Given the description of an element on the screen output the (x, y) to click on. 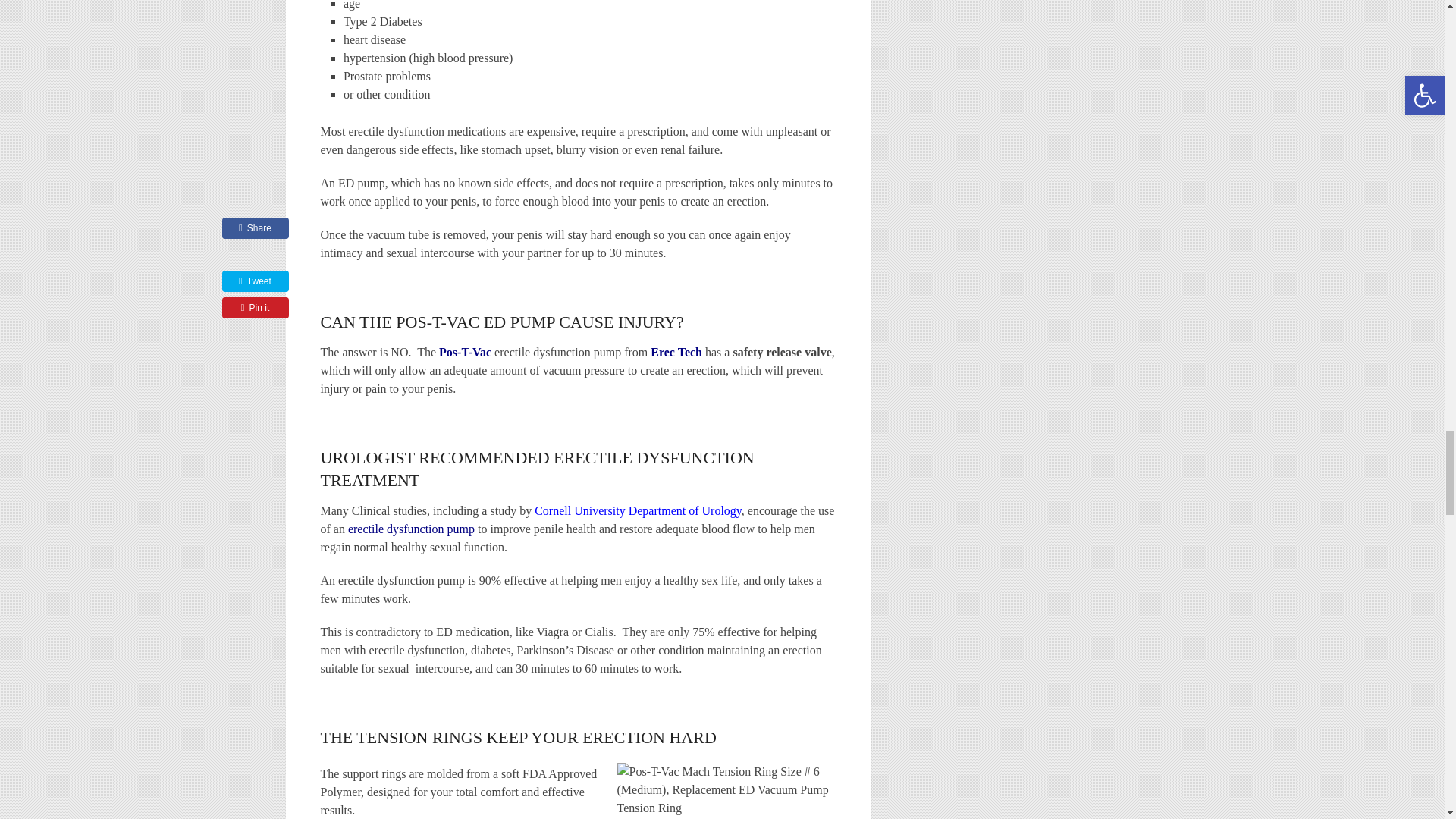
Erec Tech (675, 351)
Cornell University Department of Urology (637, 510)
BOS-2000 (467, 351)
erectile dysfunction pump (410, 528)
Pos-T-Vac (467, 351)
